Given the description of an element on the screen output the (x, y) to click on. 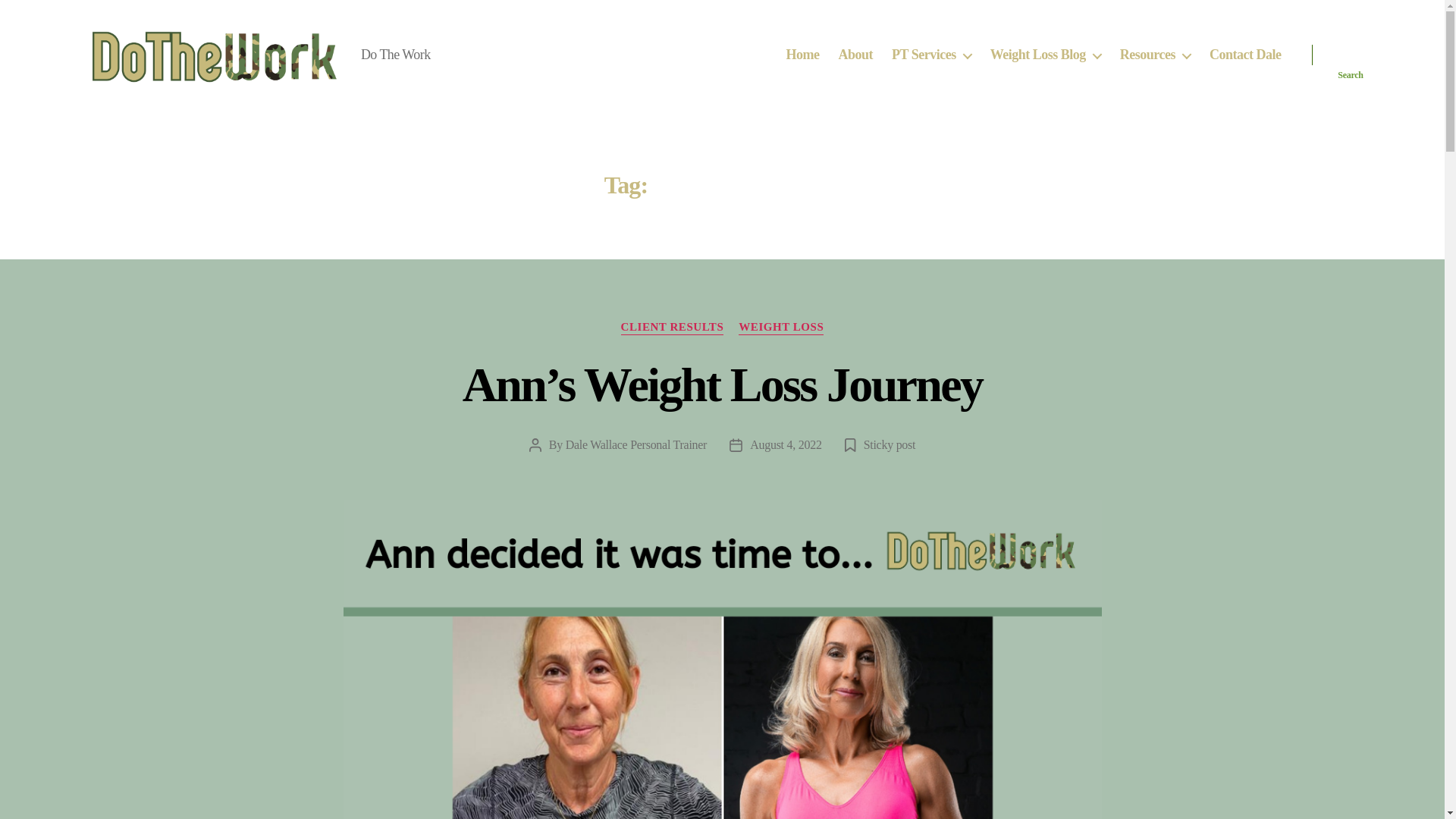
Resources (1155, 54)
Search (1350, 55)
PT Services (931, 54)
Contact Dale (1245, 54)
Weight Loss Blog (1045, 54)
Home (802, 54)
About (855, 54)
